Given the description of an element on the screen output the (x, y) to click on. 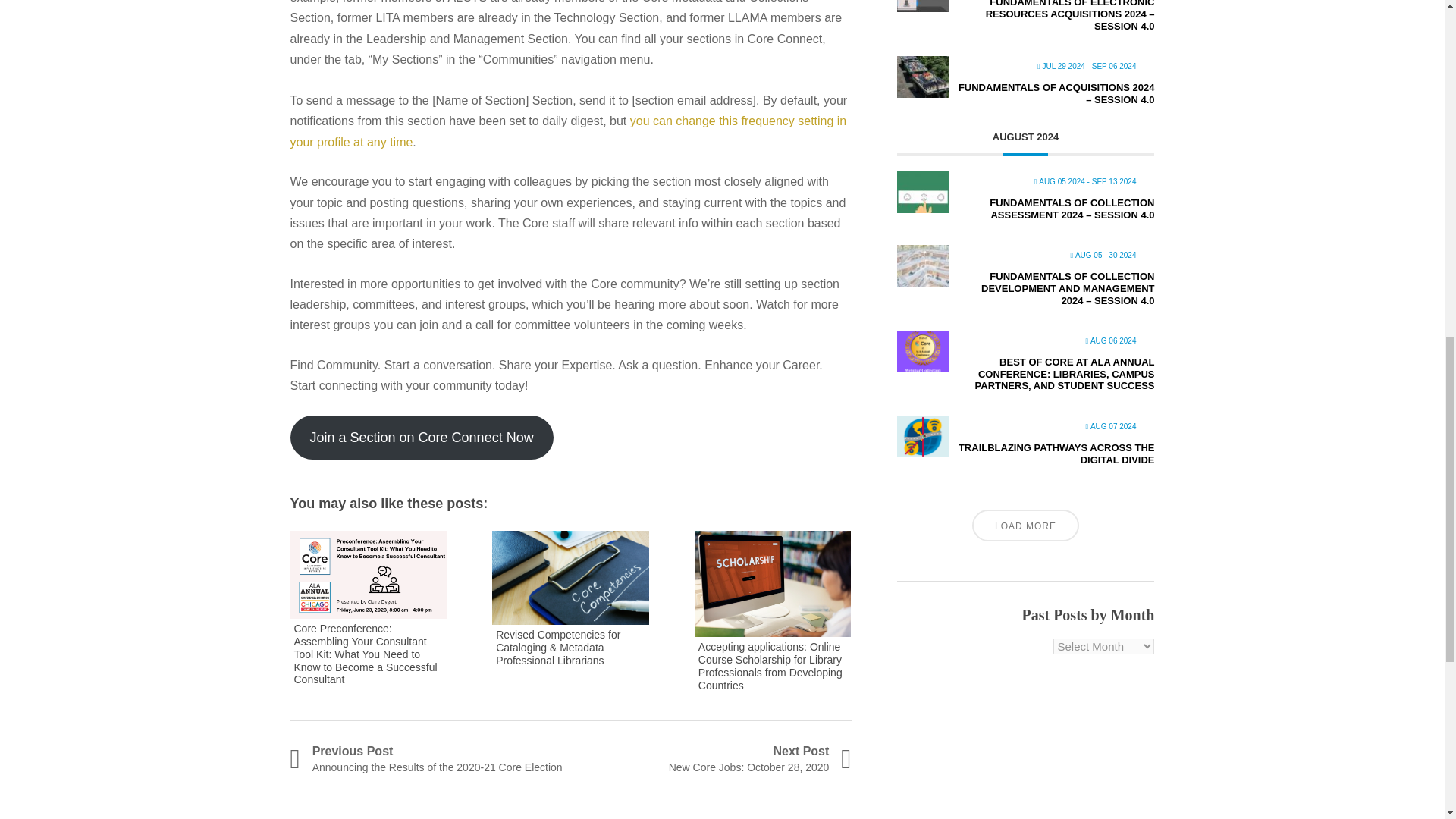
Join a Section on Core Connect Now (421, 437)
